Given the description of an element on the screen output the (x, y) to click on. 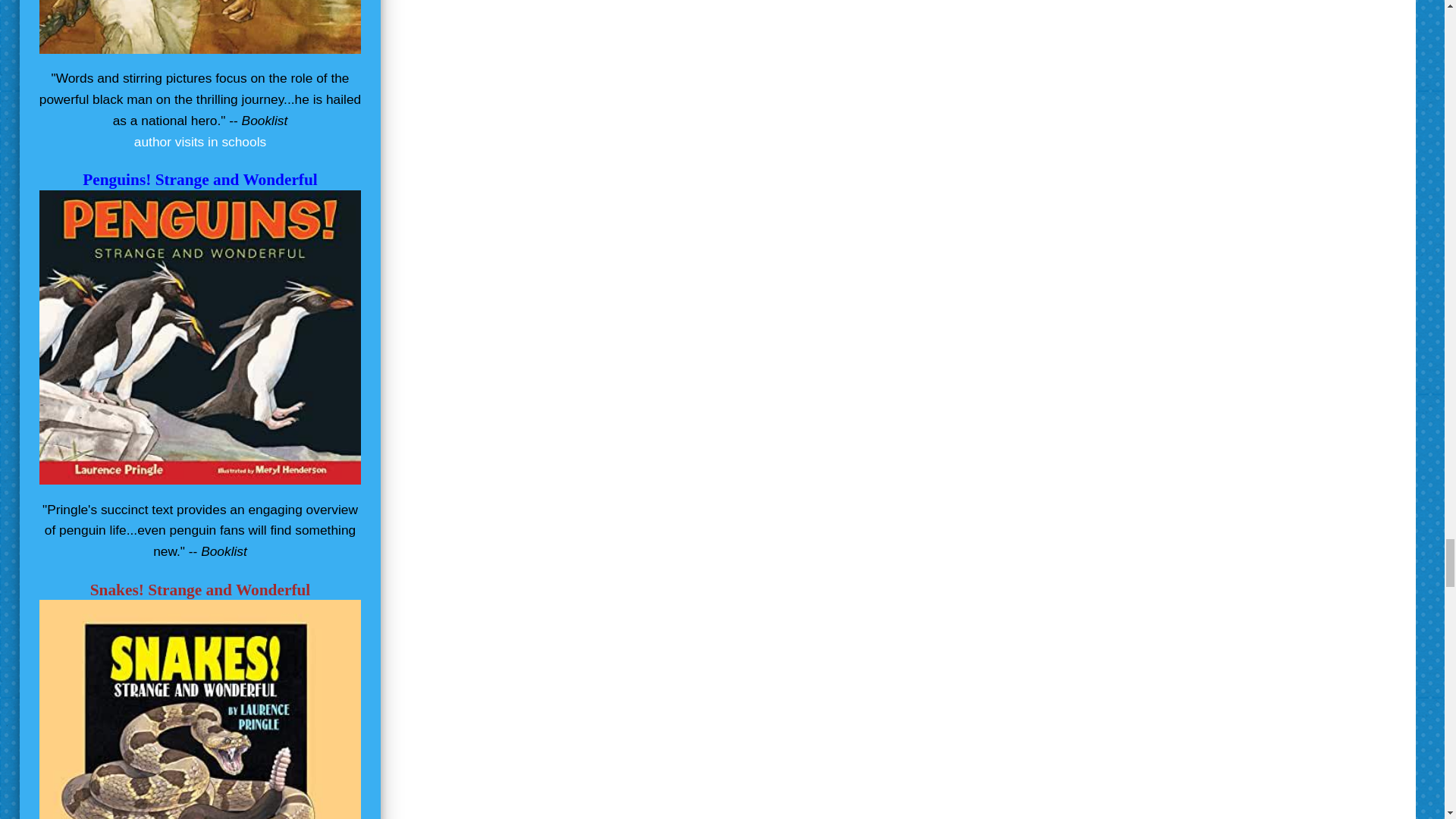
Penguins! Strange and Wonderful (199, 179)
Snakes! Strange and Wonderful (200, 589)
